Given the description of an element on the screen output the (x, y) to click on. 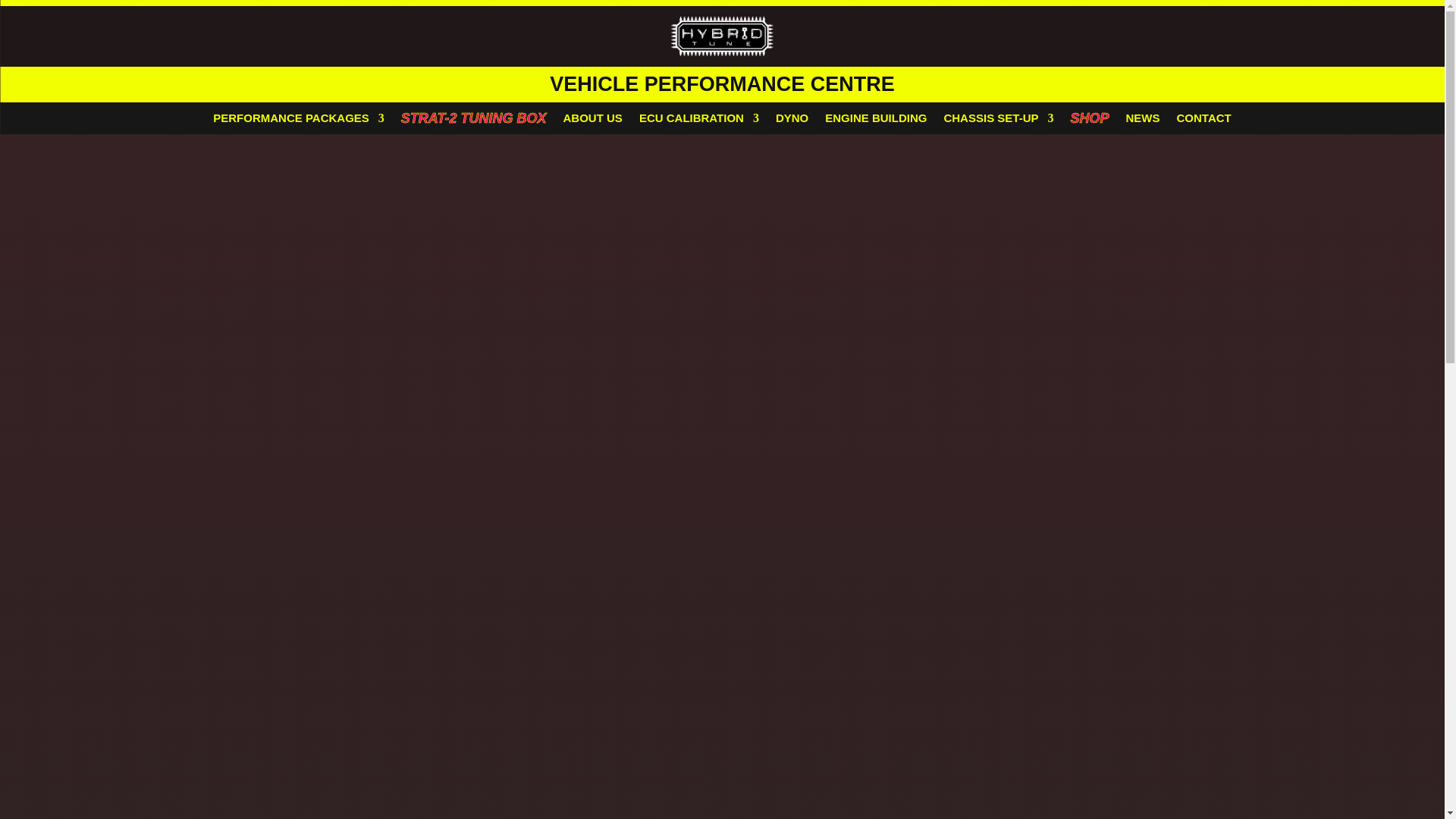
PERFORMANCE PACKAGES (298, 121)
STRAT-2 TUNING BOX (474, 121)
